Given the description of an element on the screen output the (x, y) to click on. 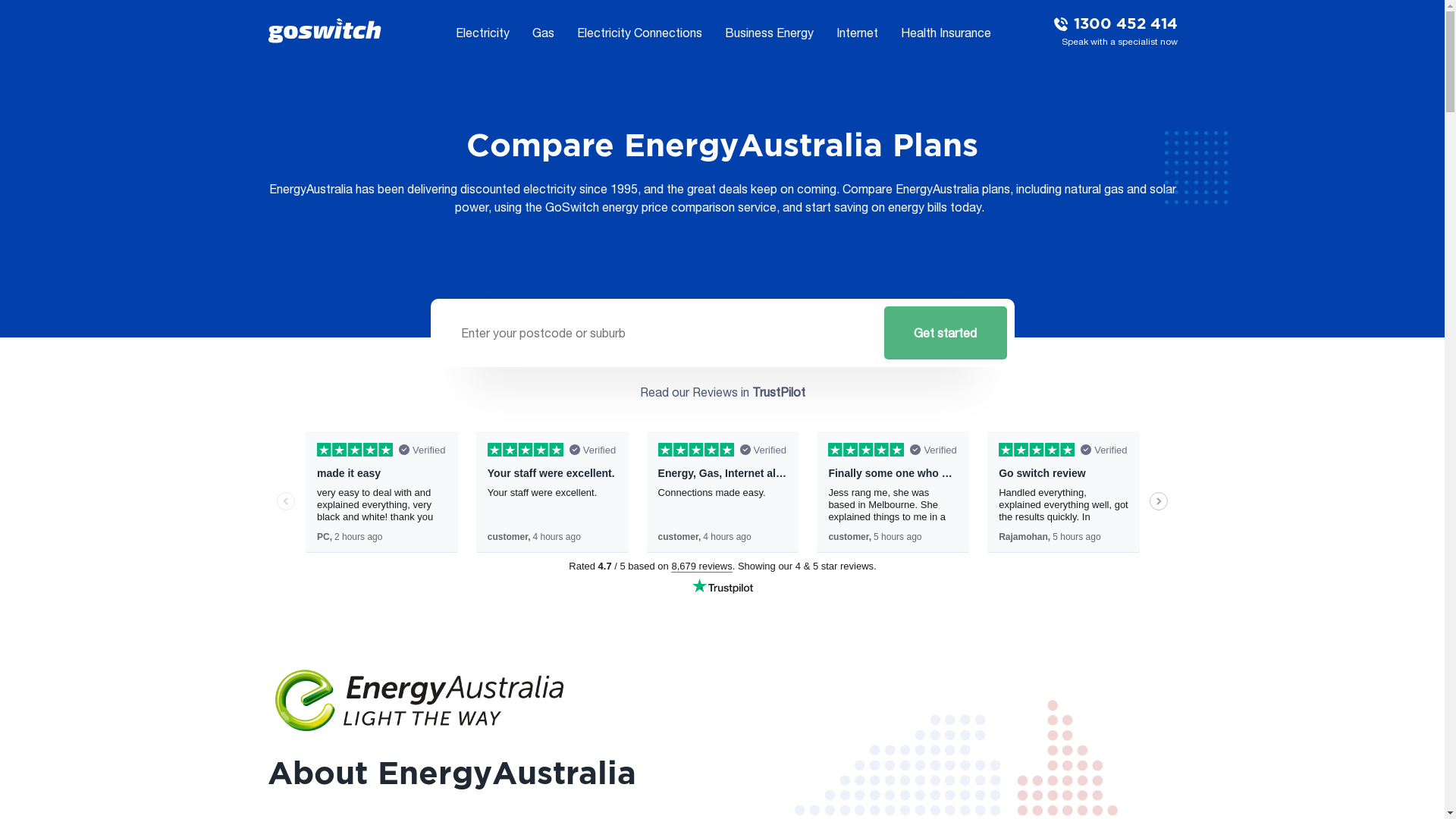
Get started Element type: text (945, 332)
Internet Element type: text (856, 32)
Customer reviews powered by Trustpilot Element type: hover (721, 514)
1300 452 414 Element type: text (1122, 23)
Gas Element type: text (543, 32)
Health Insurance Element type: text (945, 32)
Business Energy Element type: text (768, 32)
Electricity Element type: text (481, 32)
TrustPilot Element type: text (778, 391)
Electricity Connections Element type: text (638, 32)
